Given the description of an element on the screen output the (x, y) to click on. 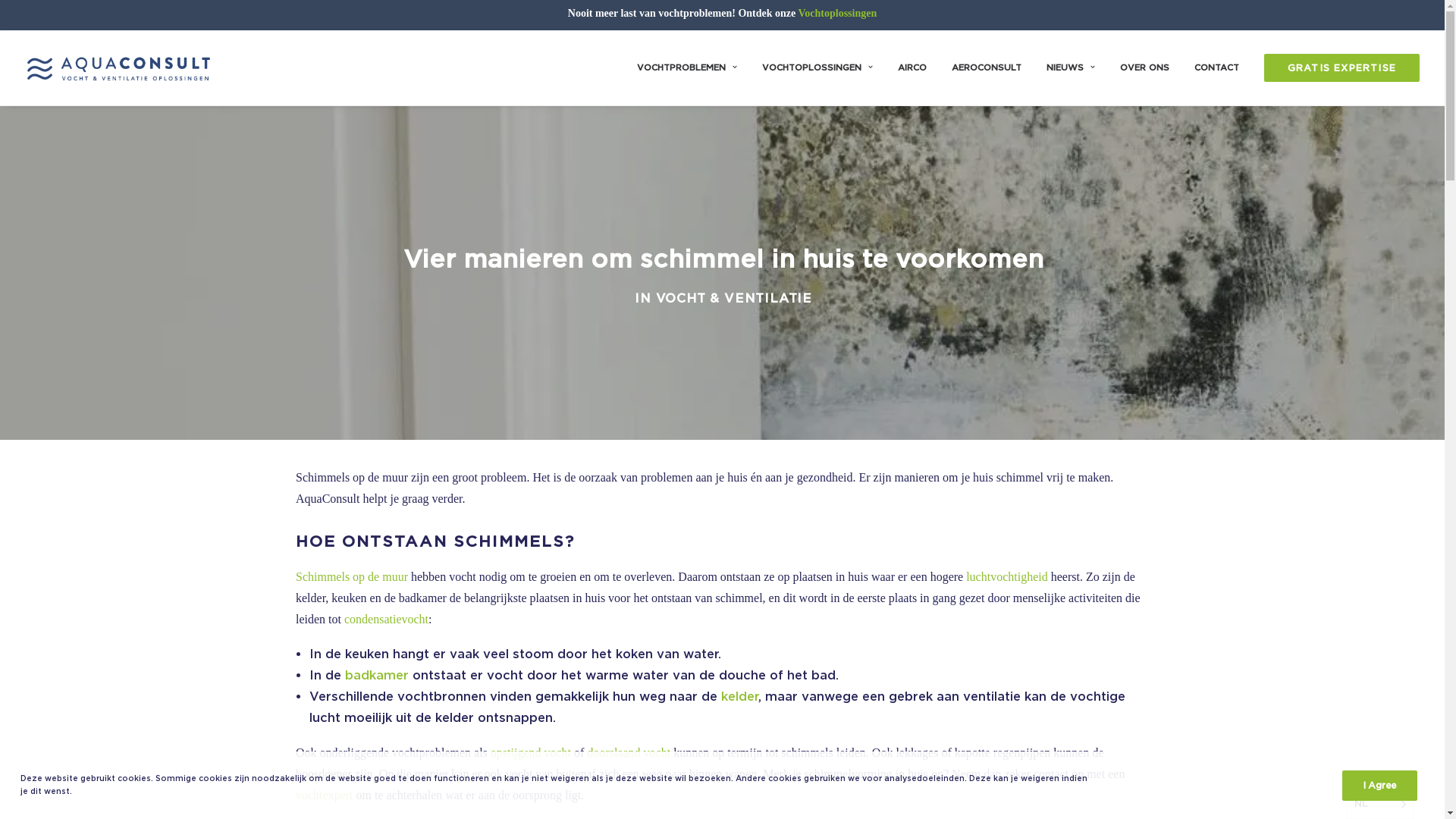
Privacy Preferences Element type: text (1282, 784)
condensatievocht Element type: text (386, 618)
NIEUWS Element type: text (1070, 67)
VOCHTOPLOSSINGEN Element type: text (817, 67)
vochtexpert Element type: text (324, 794)
badkamer Element type: text (376, 675)
kelder Element type: text (739, 696)
Schimmels op de muur Element type: text (351, 576)
CONTACT Element type: text (1216, 67)
VOCHT & VENTILATIE Element type: text (733, 298)
OVER ONS Element type: text (1144, 67)
opstijgend vocht Element type: text (530, 752)
doorslaand vocht Element type: text (628, 752)
AEROCONSULT Element type: text (986, 67)
AIRCO Element type: text (912, 67)
VOCHTPROBLEMEN Element type: text (692, 67)
GRATIS EXPERTISE Element type: text (1336, 67)
Vochtoplossingen Element type: text (836, 12)
I Agree Element type: text (1379, 785)
luchtvochtigheid Element type: text (1007, 576)
